Given the description of an element on the screen output the (x, y) to click on. 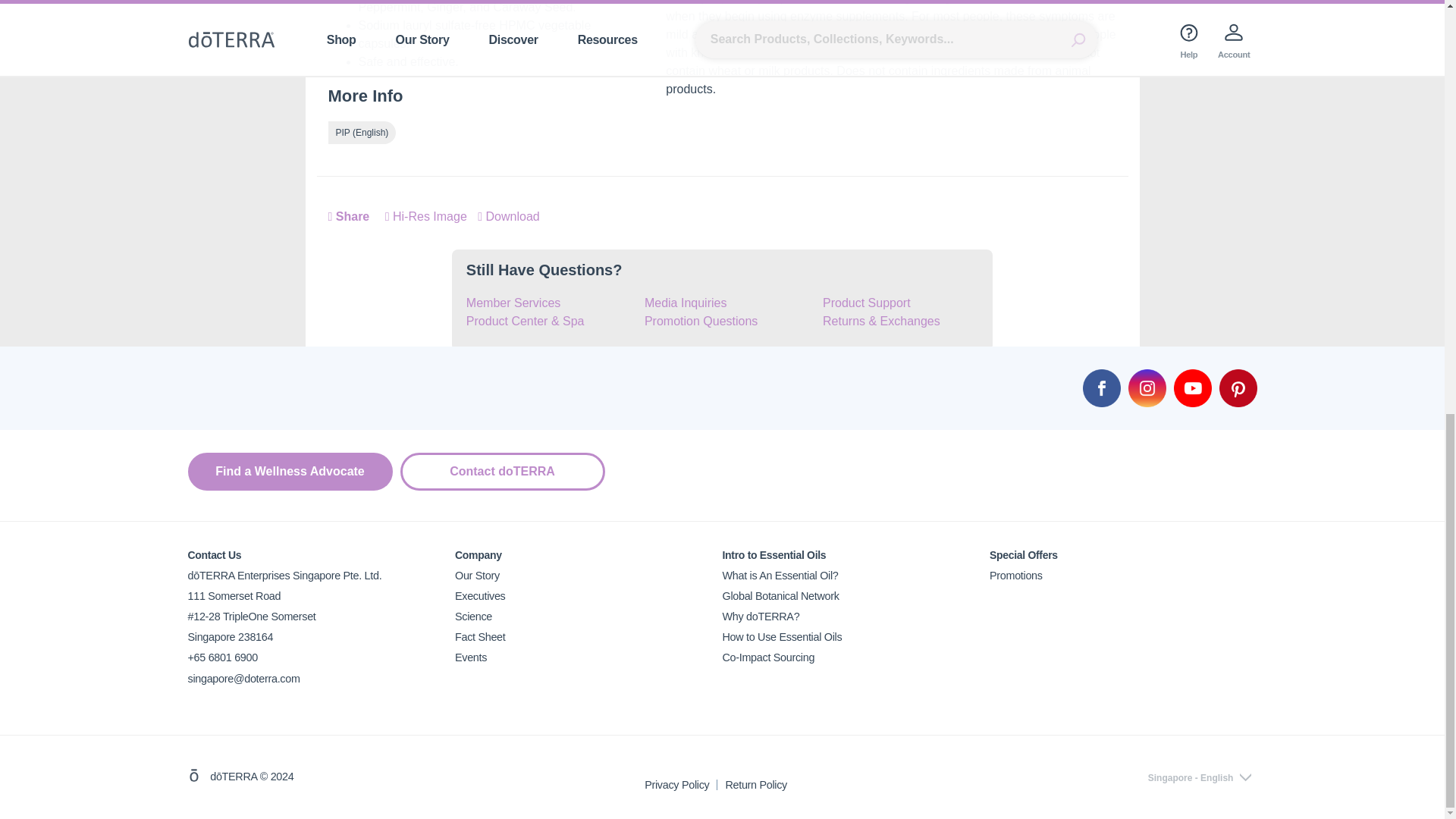
Facebook (1102, 388)
YouTube (1192, 388)
Instagram (1147, 388)
Pinterest (1238, 388)
